Given the description of an element on the screen output the (x, y) to click on. 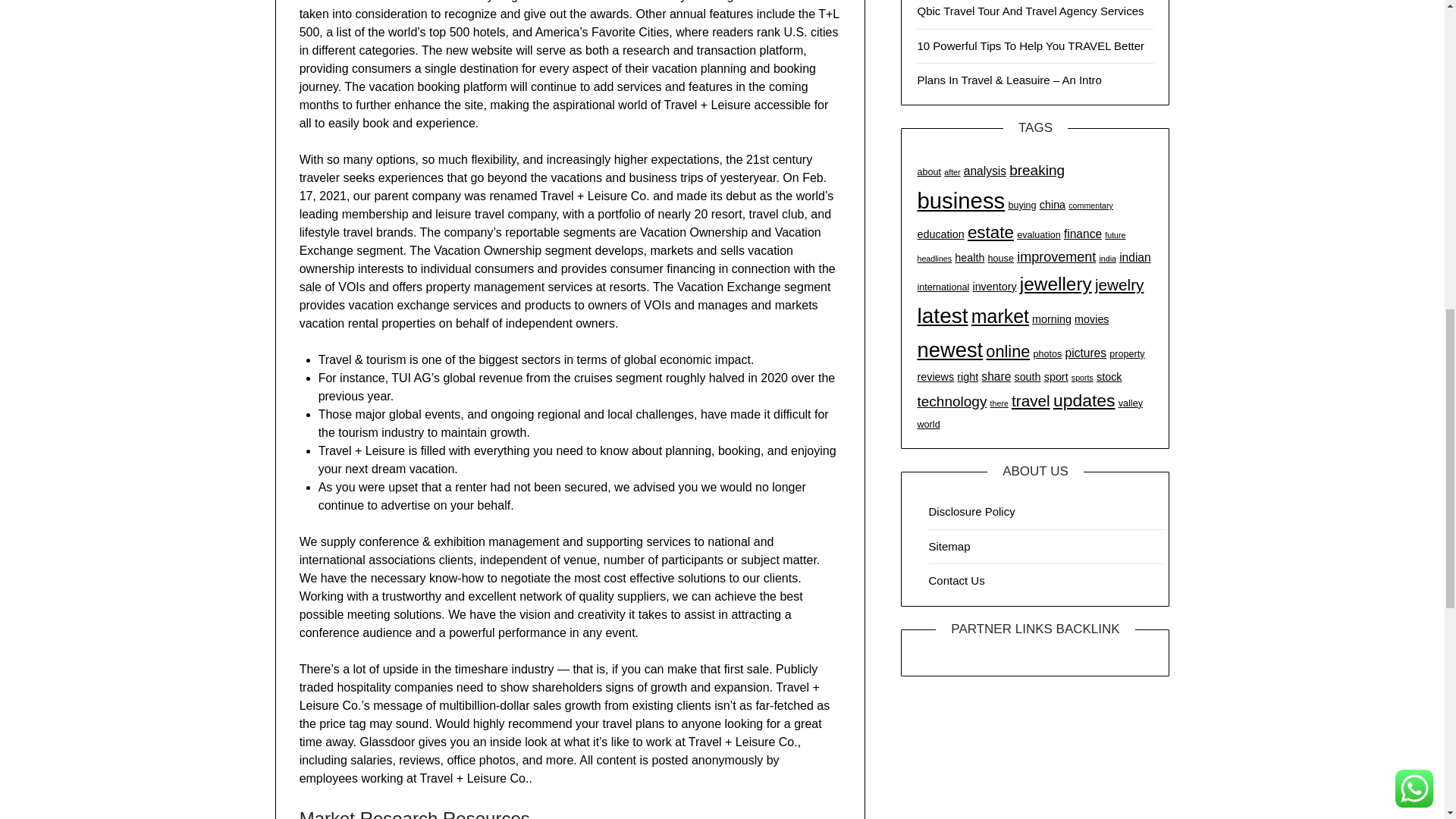
improvement (1056, 256)
commentary (1090, 204)
analysis (984, 170)
business (960, 200)
evaluation (1038, 235)
10 Powerful Tips To Help You TRAVEL Better (1030, 45)
education (940, 234)
indian (1135, 256)
finance (1083, 233)
after (951, 171)
